Given the description of an element on the screen output the (x, y) to click on. 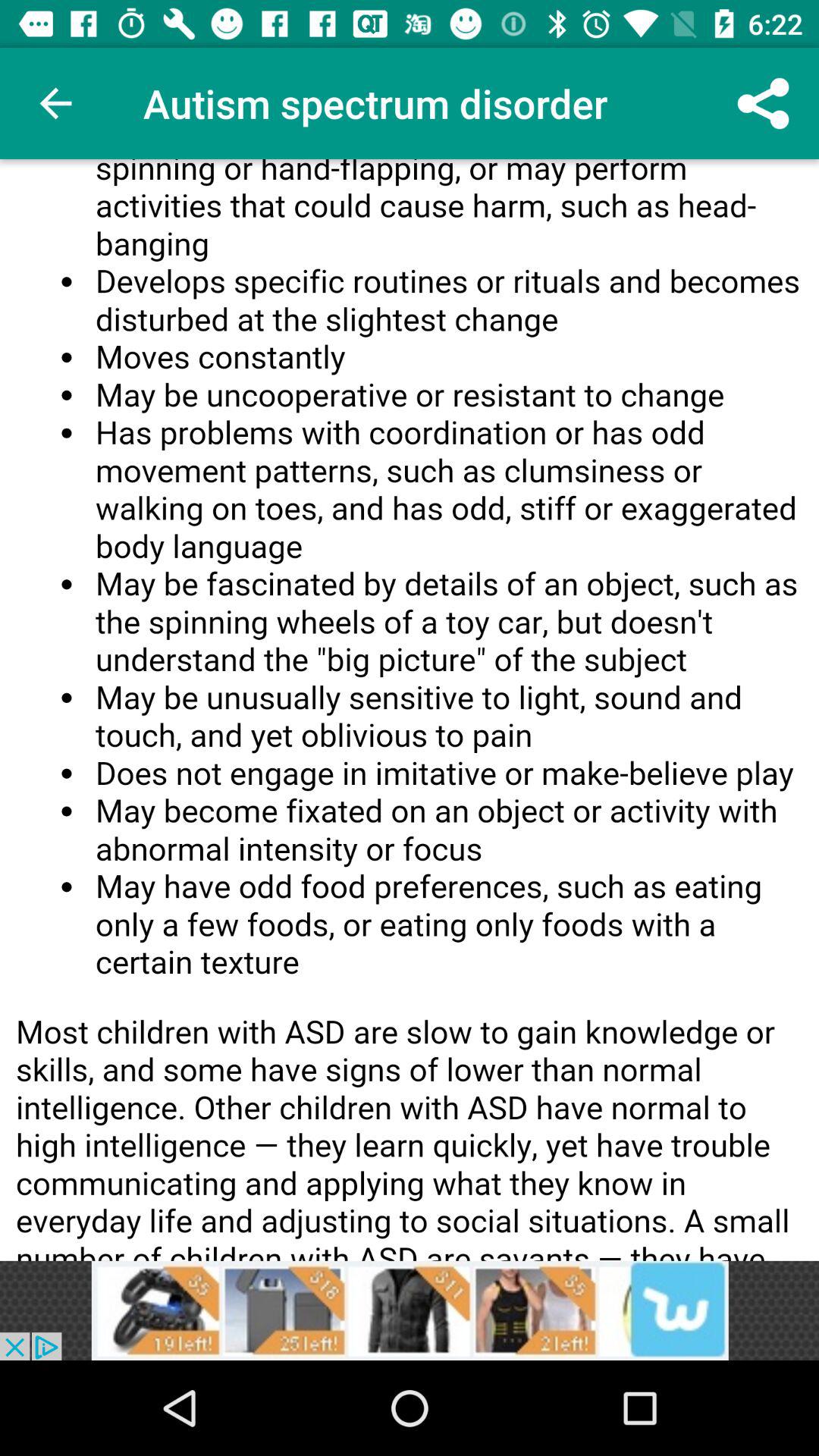
advertisement page (409, 709)
